Given the description of an element on the screen output the (x, y) to click on. 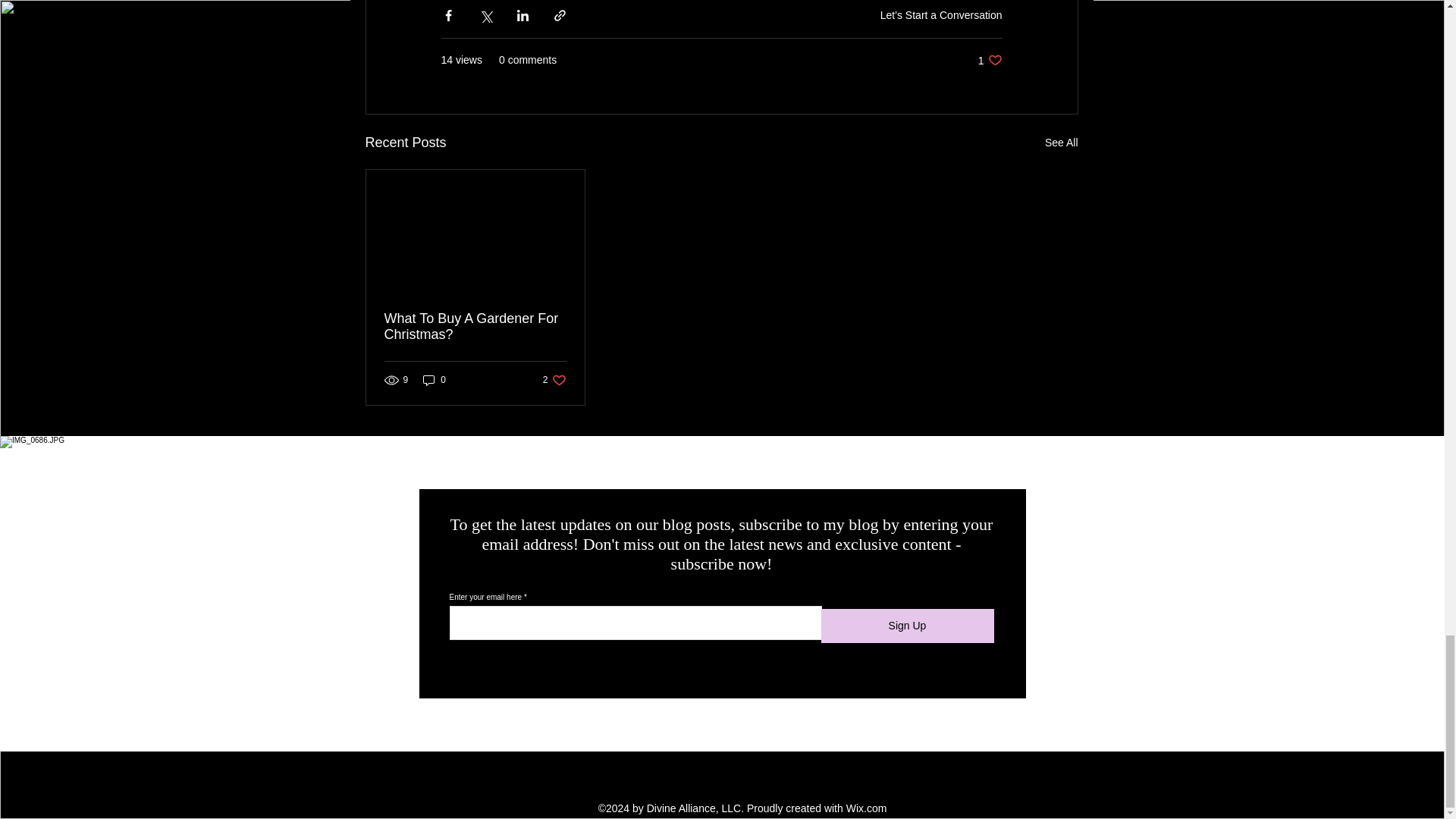
0 (434, 380)
Sign Up (906, 625)
What To Buy A Gardener For Christmas? (990, 60)
See All (475, 327)
